Given the description of an element on the screen output the (x, y) to click on. 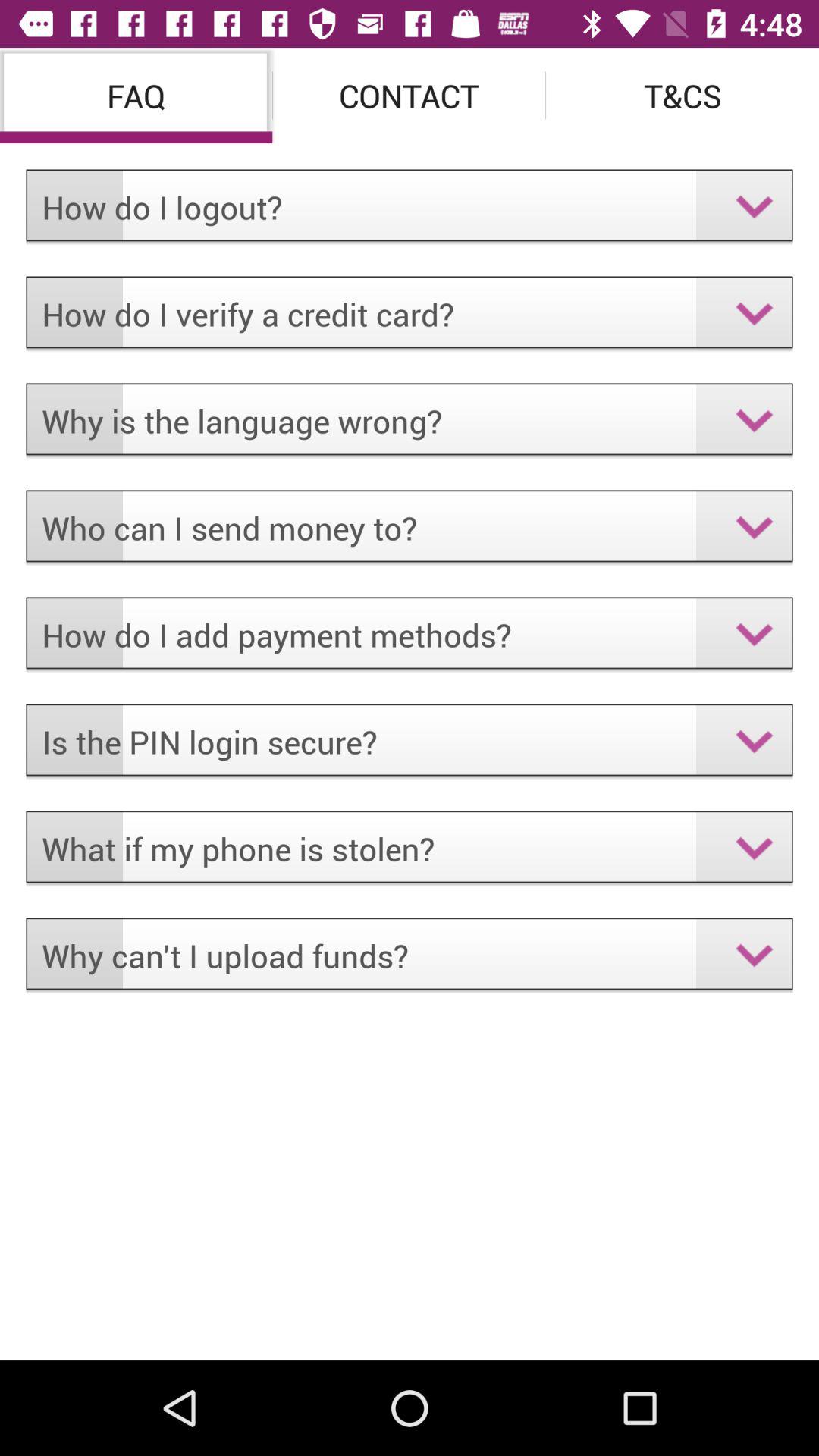
open the item above the how do i icon (136, 95)
